Given the description of an element on the screen output the (x, y) to click on. 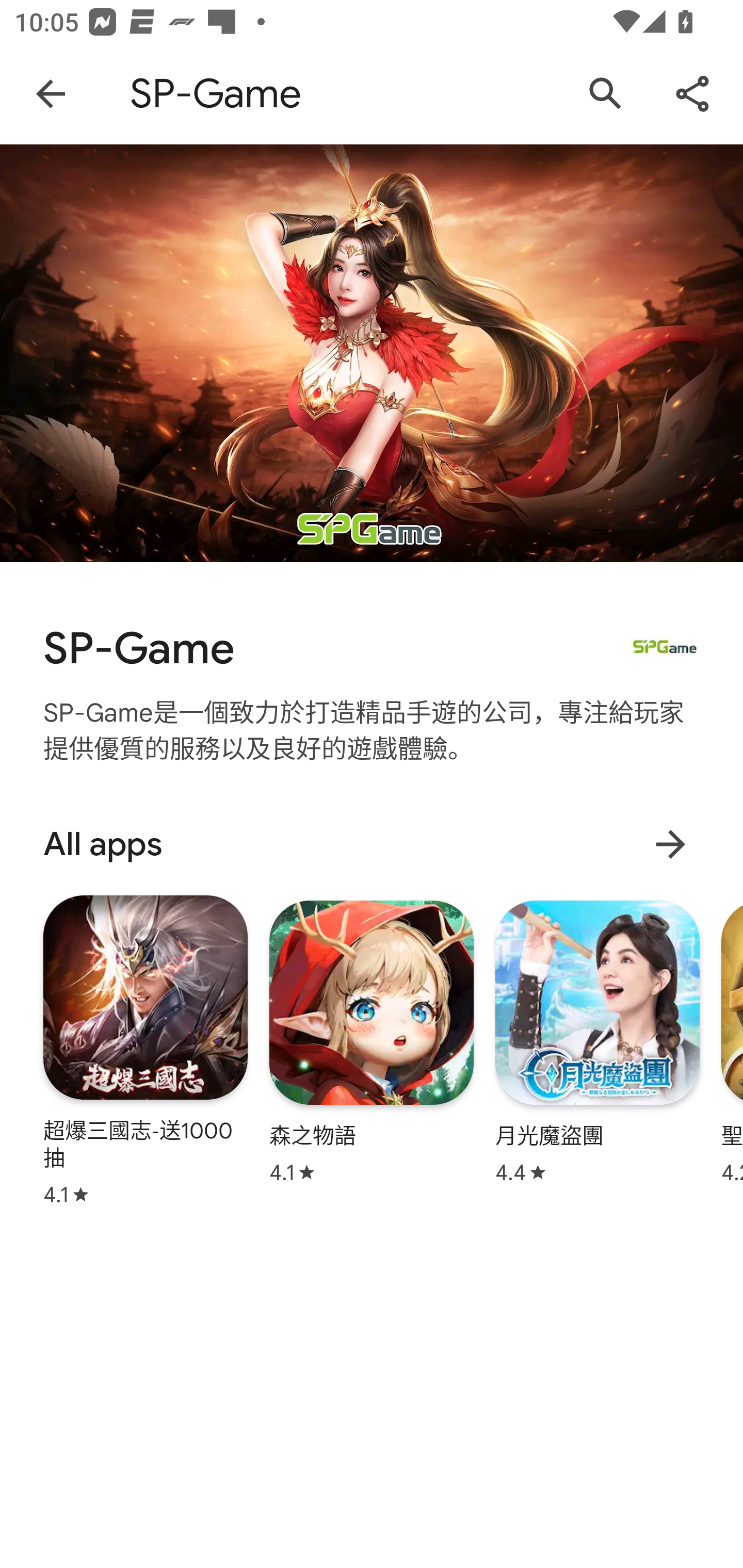
Navigate up (50, 93)
Search Google Play (605, 93)
Share (692, 93)
All apps More results for All apps (371, 844)
More results for All apps (670, 844)
超爆三國志-送1000抽
Star rating: 4.1
 (145, 1050)
森之物語
Star rating: 4.1
 (371, 1041)
月光魔盜團
Star rating: 4.4
 (597, 1041)
